Given the description of an element on the screen output the (x, y) to click on. 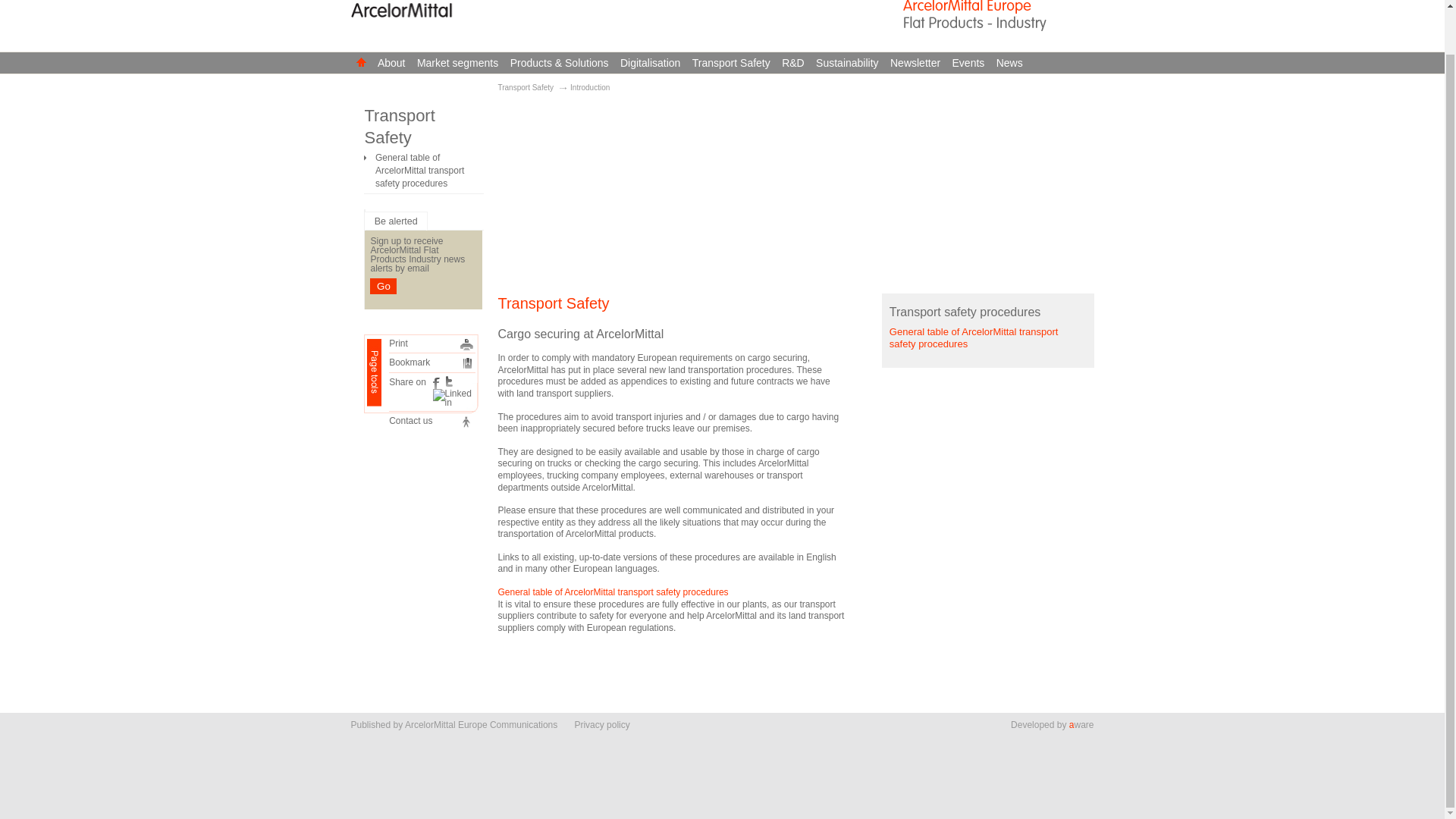
Introduction - Industry (469, 362)
ArcelorMittal Europe (996, 7)
Go (382, 286)
ArcelorMittal Europe Industry website (996, 23)
About (392, 62)
Market segments (458, 62)
